Given the description of an element on the screen output the (x, y) to click on. 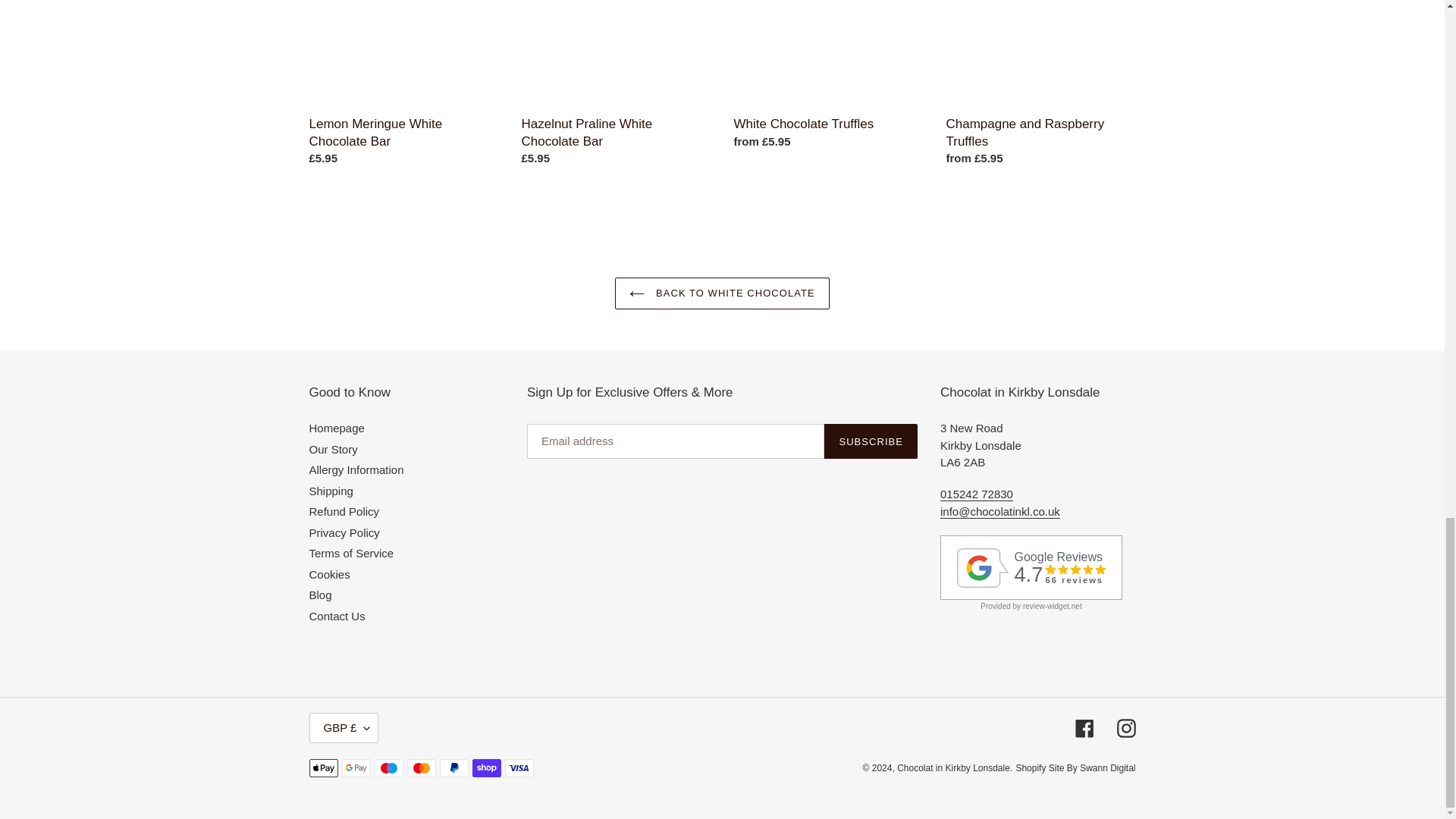
Contact (976, 494)
Contact (999, 511)
